Given the description of an element on the screen output the (x, y) to click on. 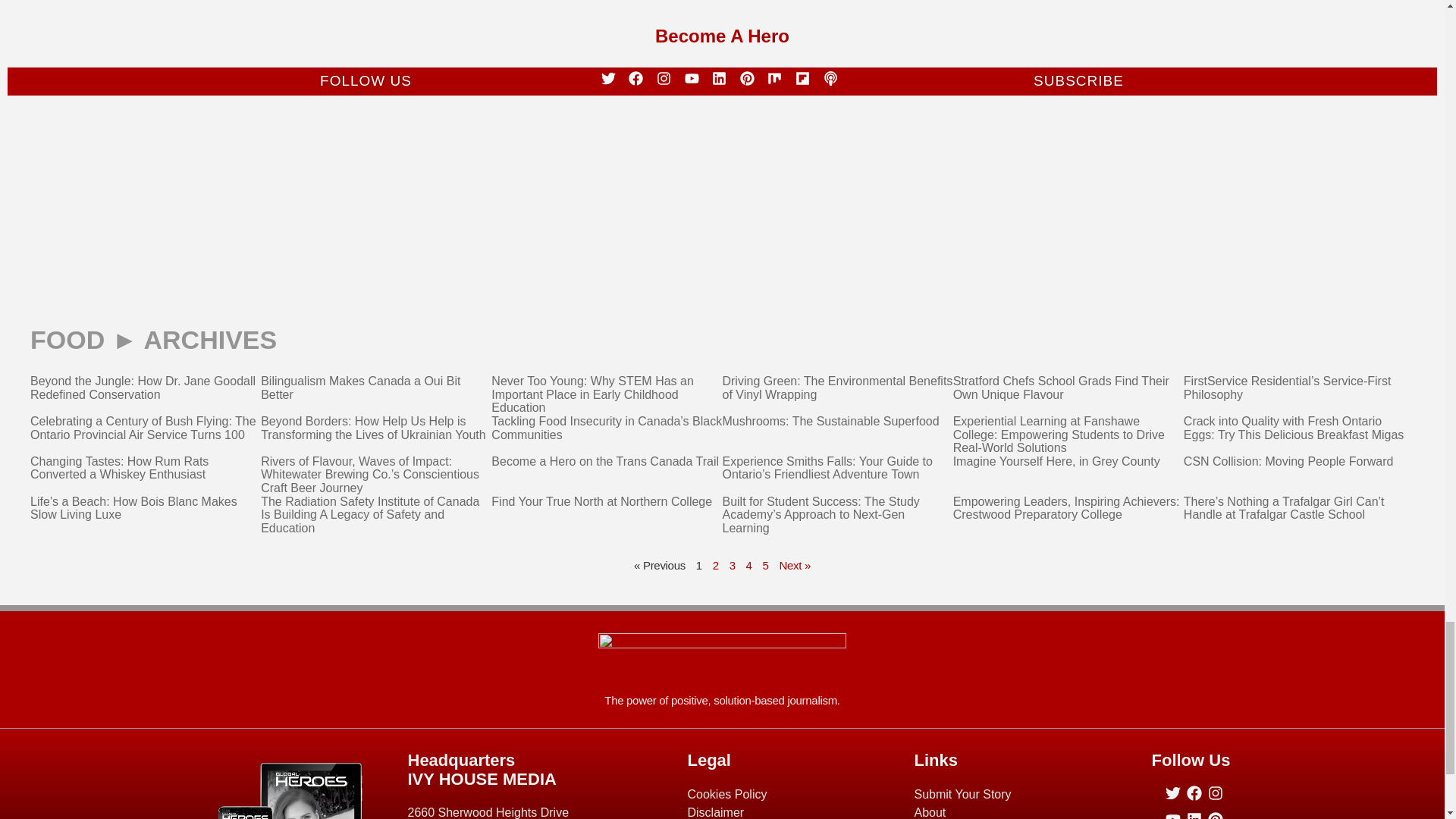
3rd party ad content (721, 174)
